Given the description of an element on the screen output the (x, y) to click on. 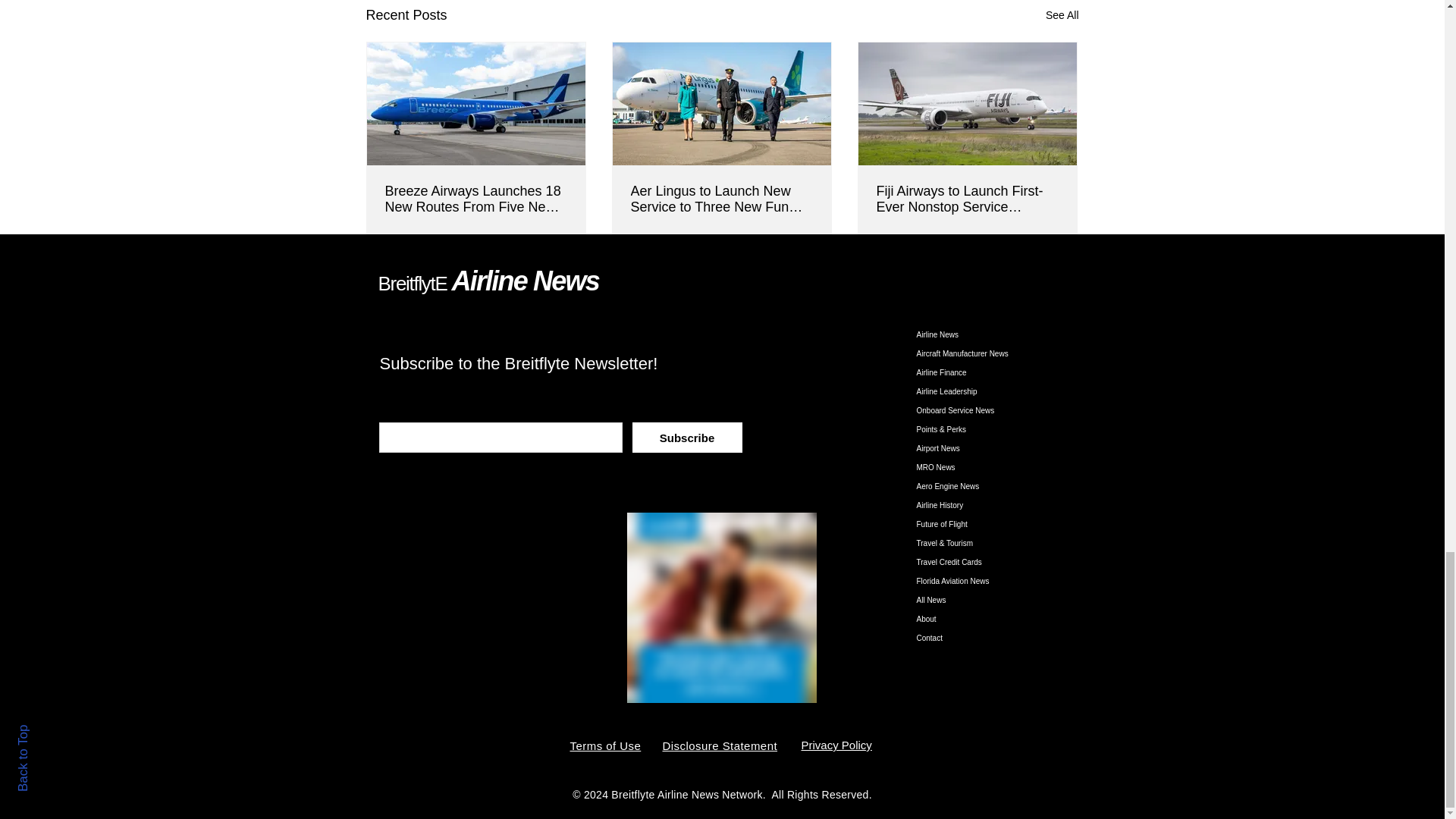
Subscribe (686, 437)
Breit (395, 282)
Breeze Airways Launches 18 New Routes From Five New Cities (476, 199)
See All (1061, 15)
